Given the description of an element on the screen output the (x, y) to click on. 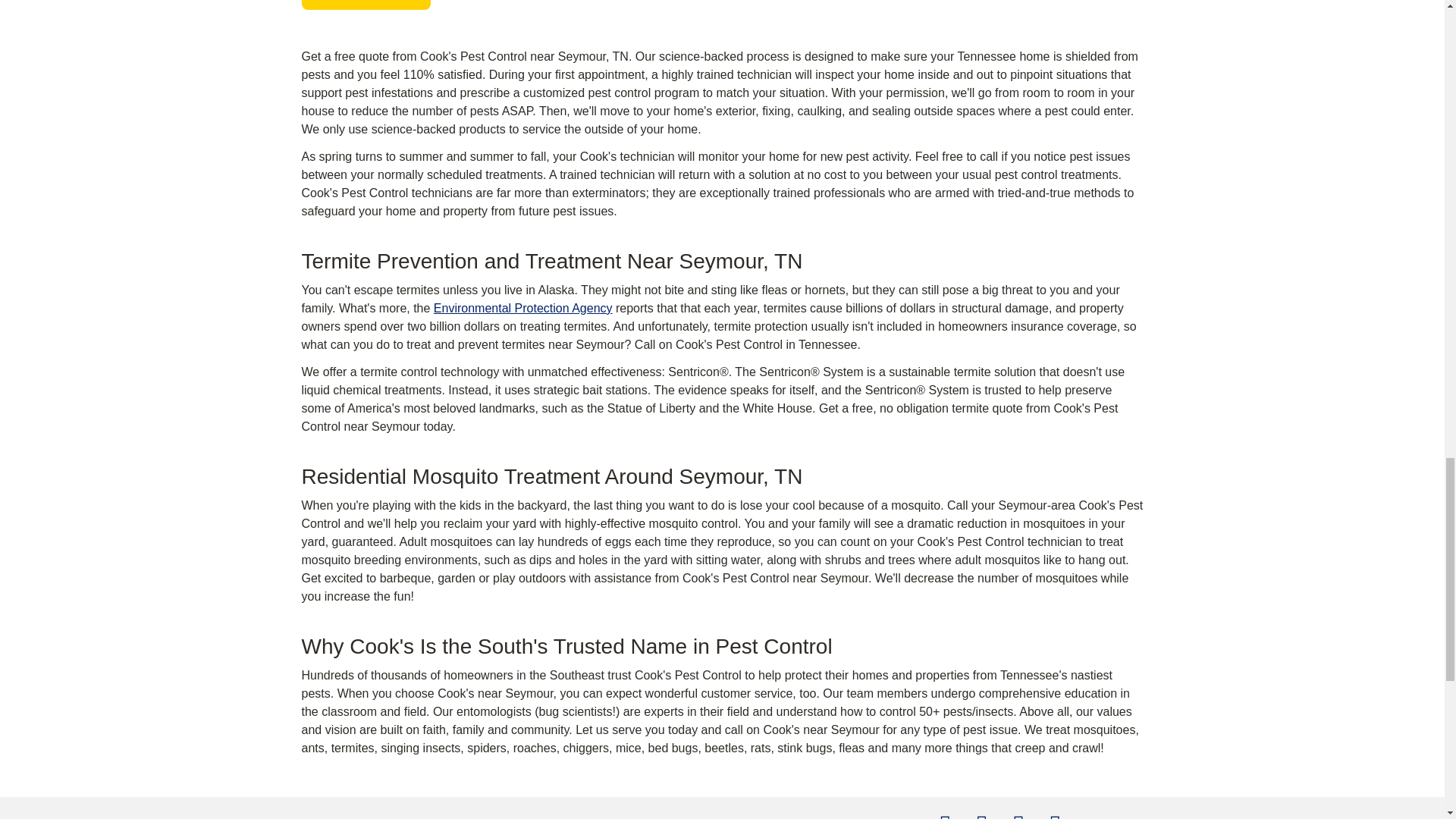
Get a Quote (365, 4)
Follow Us on YouTube (1056, 815)
Environmental Protection Agency (522, 308)
Follow Us on Instagram (981, 815)
Follow Us on Twitter (1018, 815)
Facebook (945, 815)
